Given the description of an element on the screen output the (x, y) to click on. 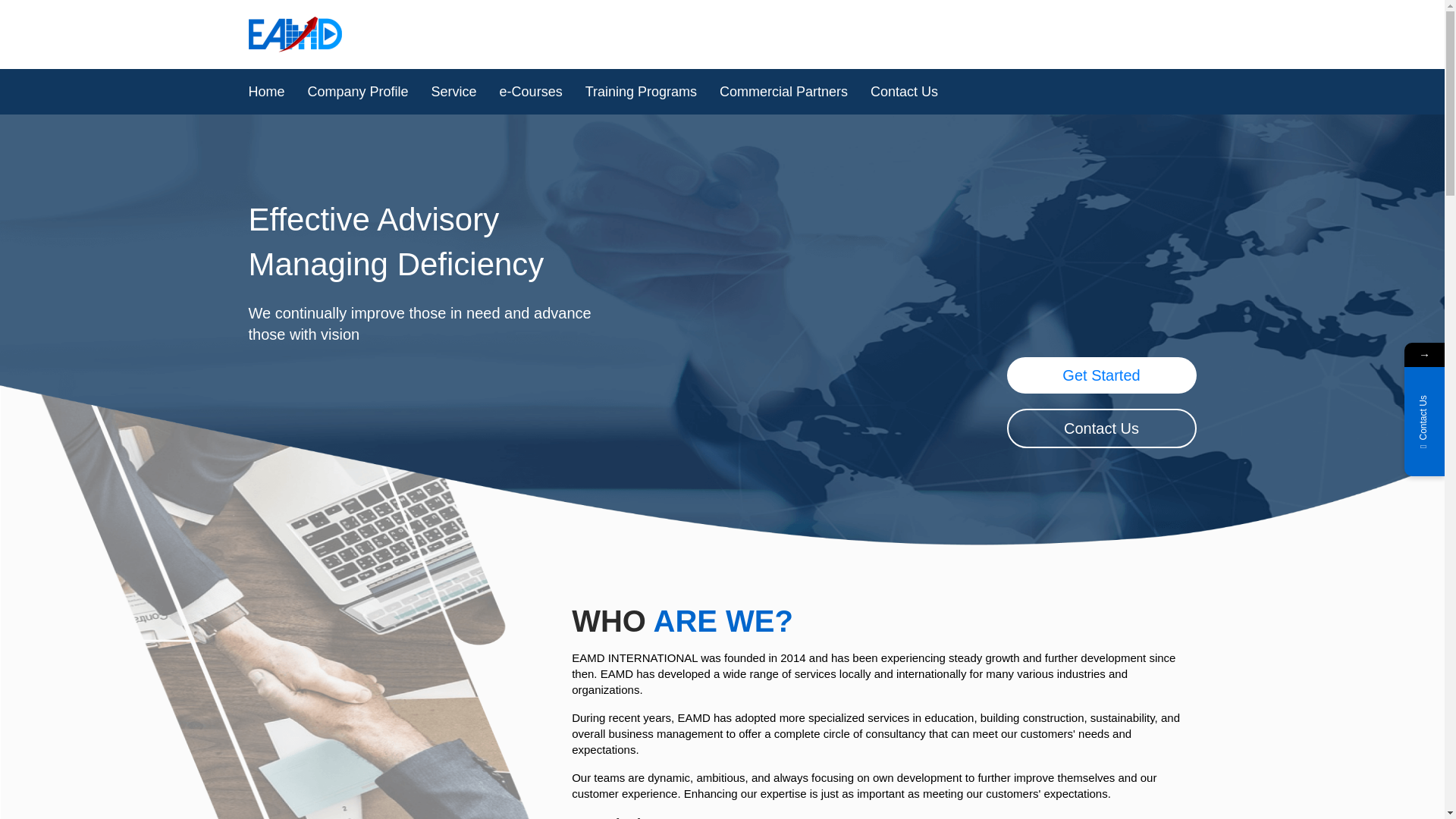
Contact Us (898, 91)
Training Programs (640, 91)
Get Started (1101, 375)
Contact Us (1101, 427)
e-Courses (530, 91)
Service (453, 91)
Home (272, 91)
Commercial Partners (783, 91)
Company Profile (358, 91)
